Given the description of an element on the screen output the (x, y) to click on. 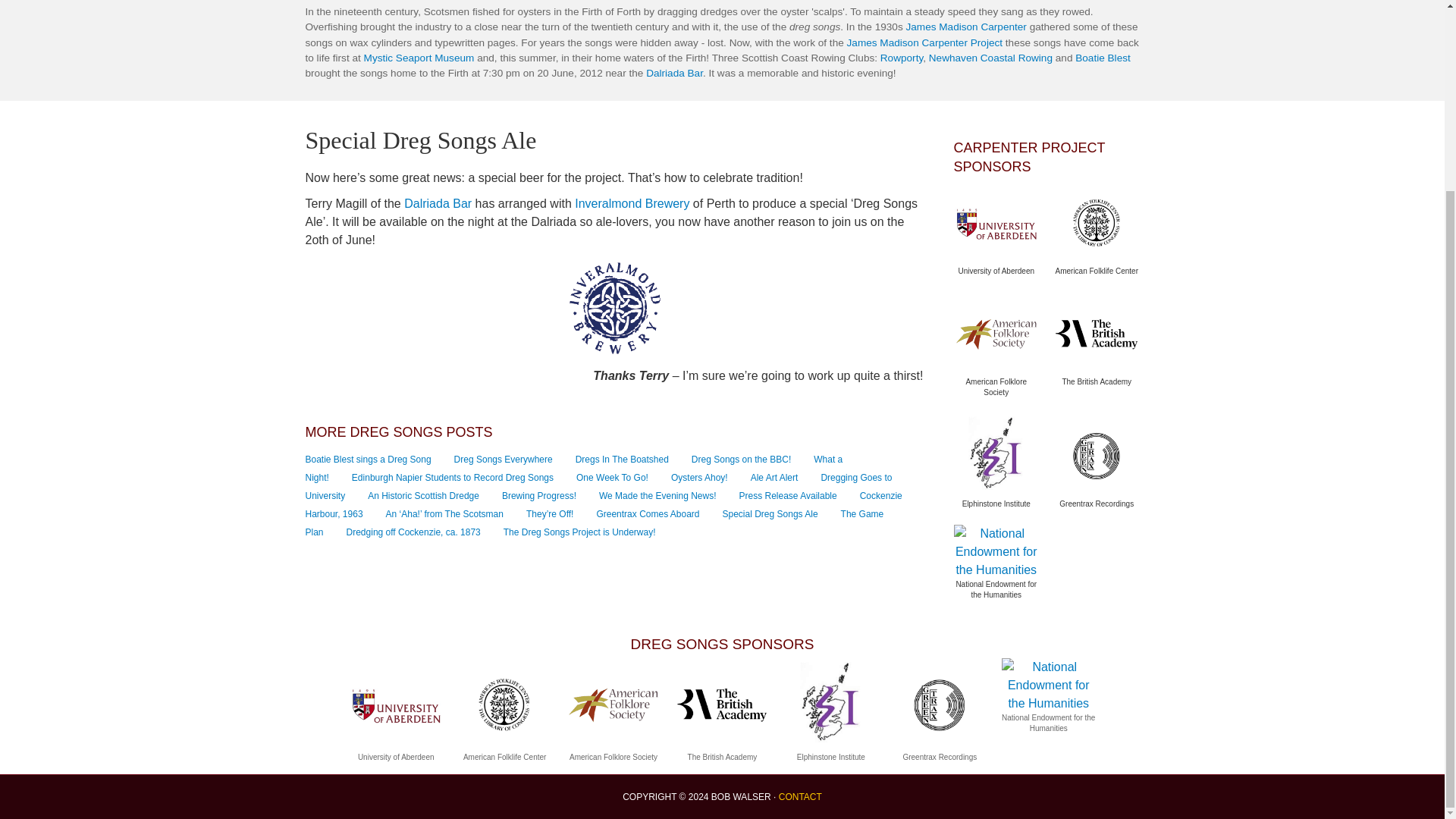
Dreg Songs Everywhere (503, 459)
Dalriada Bar (437, 203)
Mystic Seaport Museum (419, 57)
James Madison Carpenter Project (925, 42)
Boatie Blest sings a Dreg Song (367, 459)
The Dalriada Bar (674, 72)
Ale Art Alert (774, 477)
Mystic Seaport Museum (419, 57)
Boatie Blest (1103, 57)
